Given the description of an element on the screen output the (x, y) to click on. 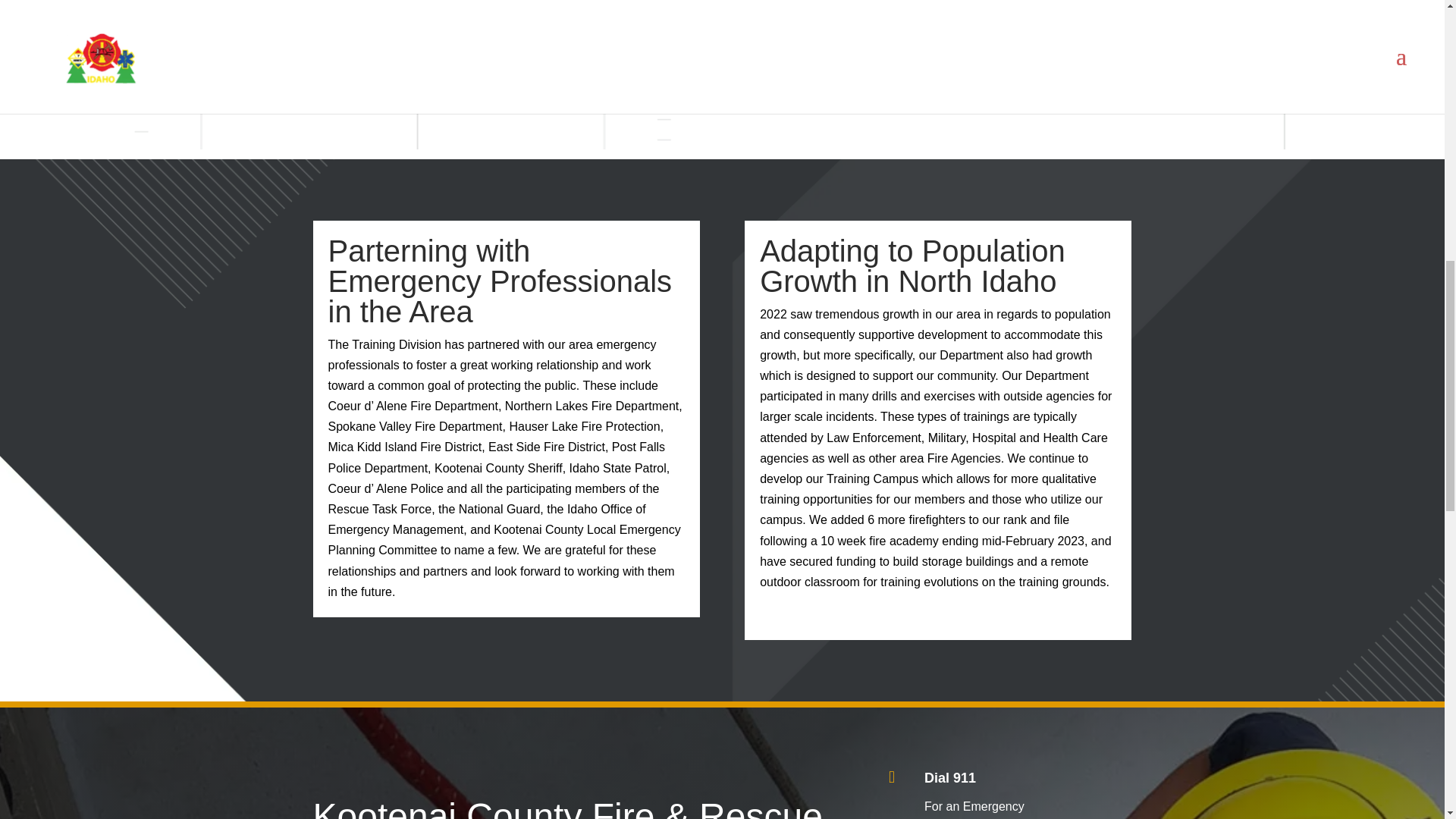
North Idaho Fire Chiefs Association (1021, 15)
Local Partners in North Idaho (1005, 74)
